Given the description of an element on the screen output the (x, y) to click on. 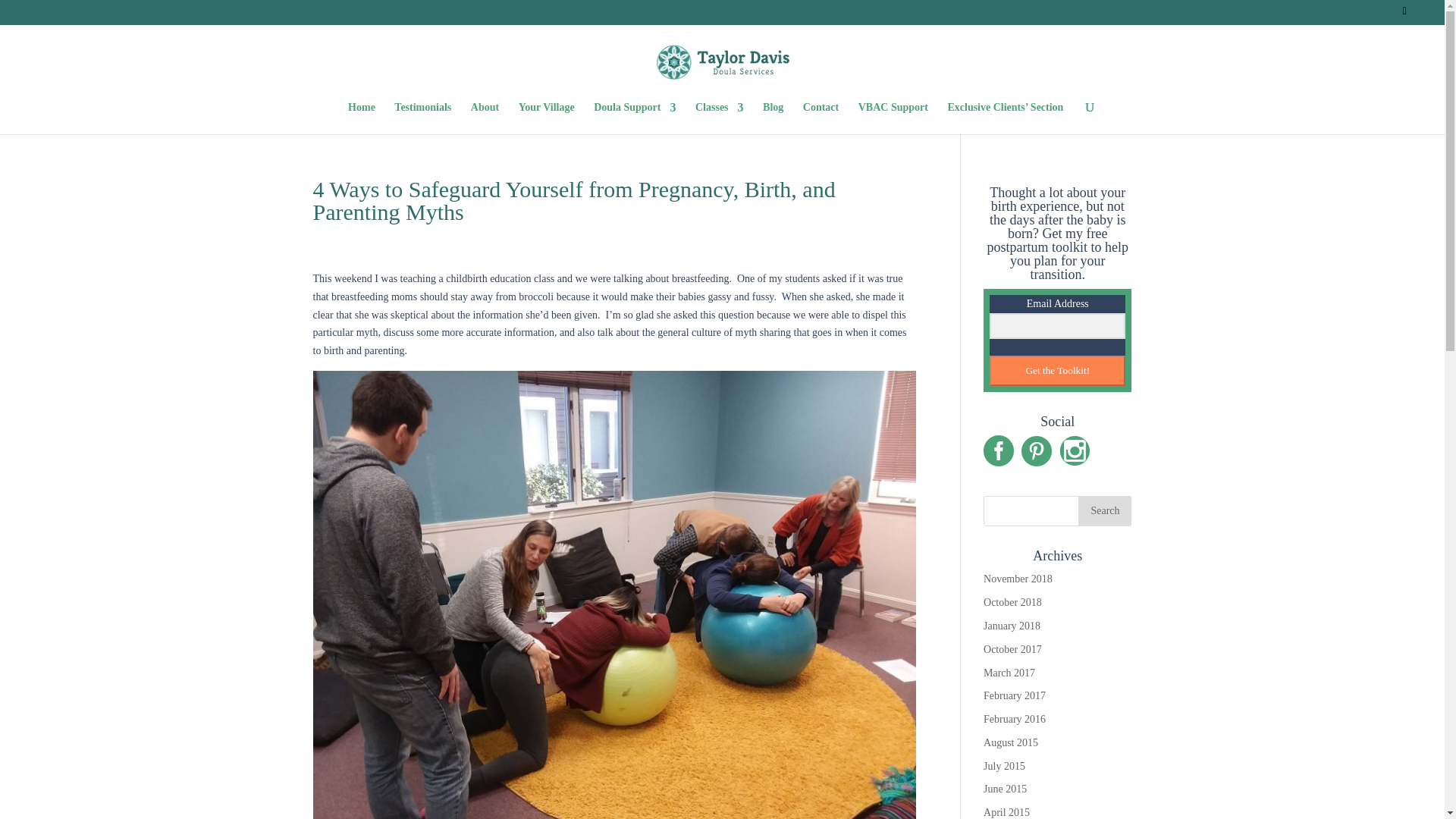
Search (1104, 511)
VBAC Support (893, 118)
Doula Support (634, 118)
Your Village (546, 118)
Testimonials (422, 118)
Get the Toolkit! (1057, 370)
November 2018 (1018, 578)
Search (1104, 511)
Contact (820, 118)
Classes (719, 118)
